Given the description of an element on the screen output the (x, y) to click on. 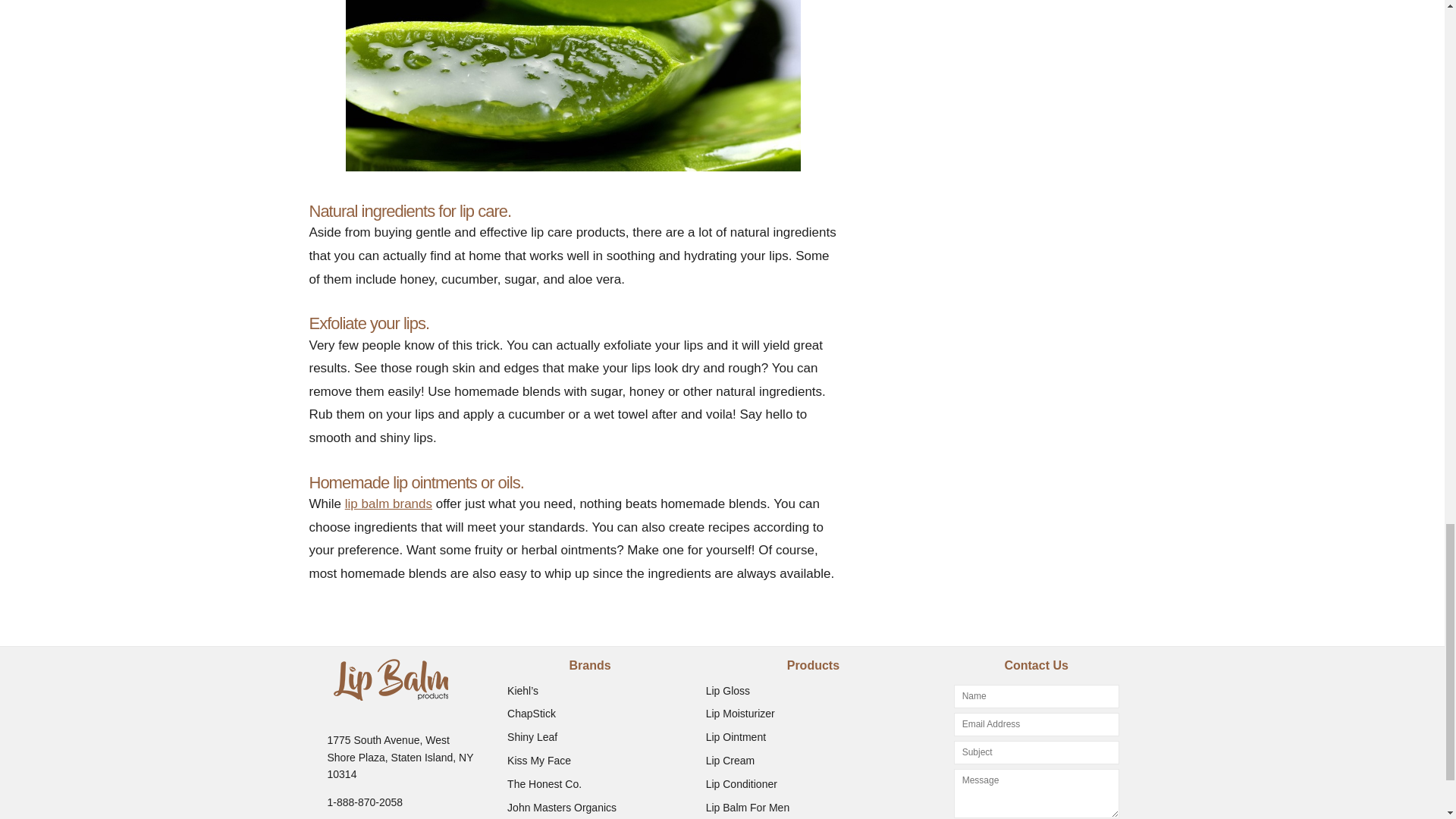
The Honest Co. (543, 784)
1-888-870-2058 (365, 802)
Kiss My Face (538, 760)
ChapStick (531, 713)
Shiny Leaf (531, 736)
Lip Balm For Men (747, 807)
lip balm brands (388, 503)
Lip Moisturizer (740, 713)
Lip Ointment (735, 736)
Lip Conditioner (741, 784)
John Masters Organics (560, 807)
Lip Cream (730, 760)
Lip Gloss (727, 690)
